Given the description of an element on the screen output the (x, y) to click on. 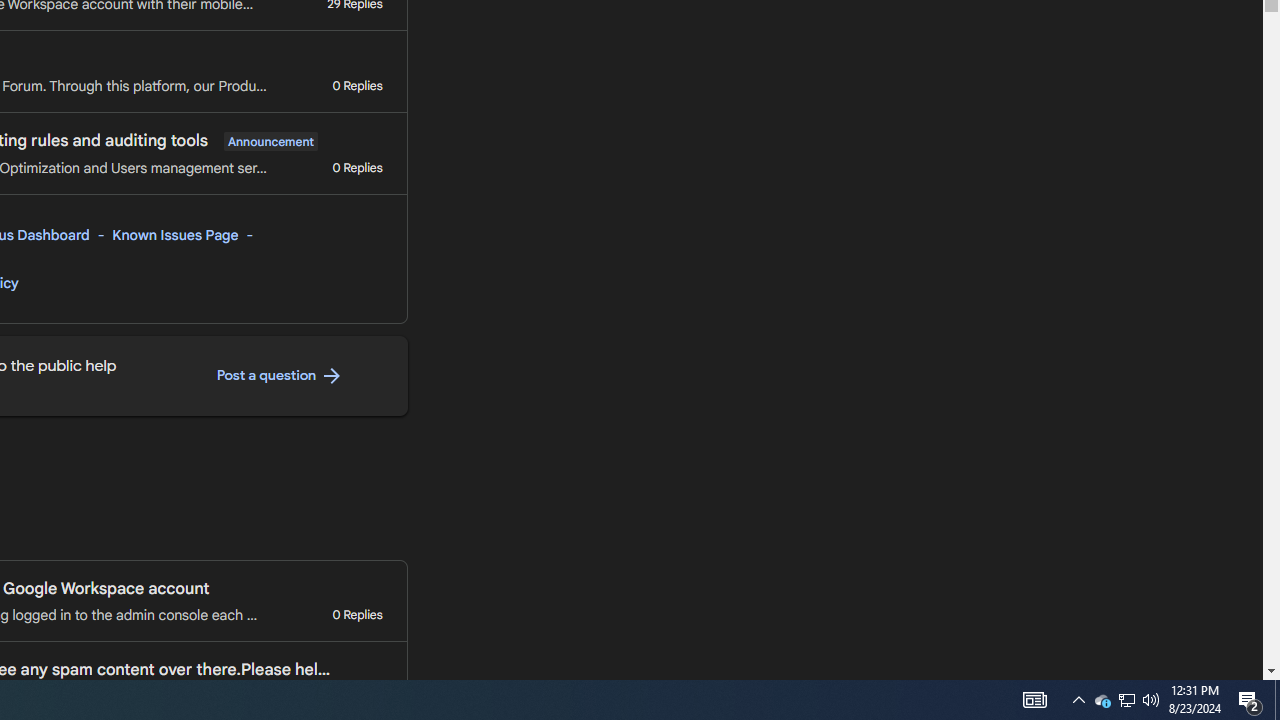
Known Issues Page (175, 235)
Post a question  (280, 376)
